Given the description of an element on the screen output the (x, y) to click on. 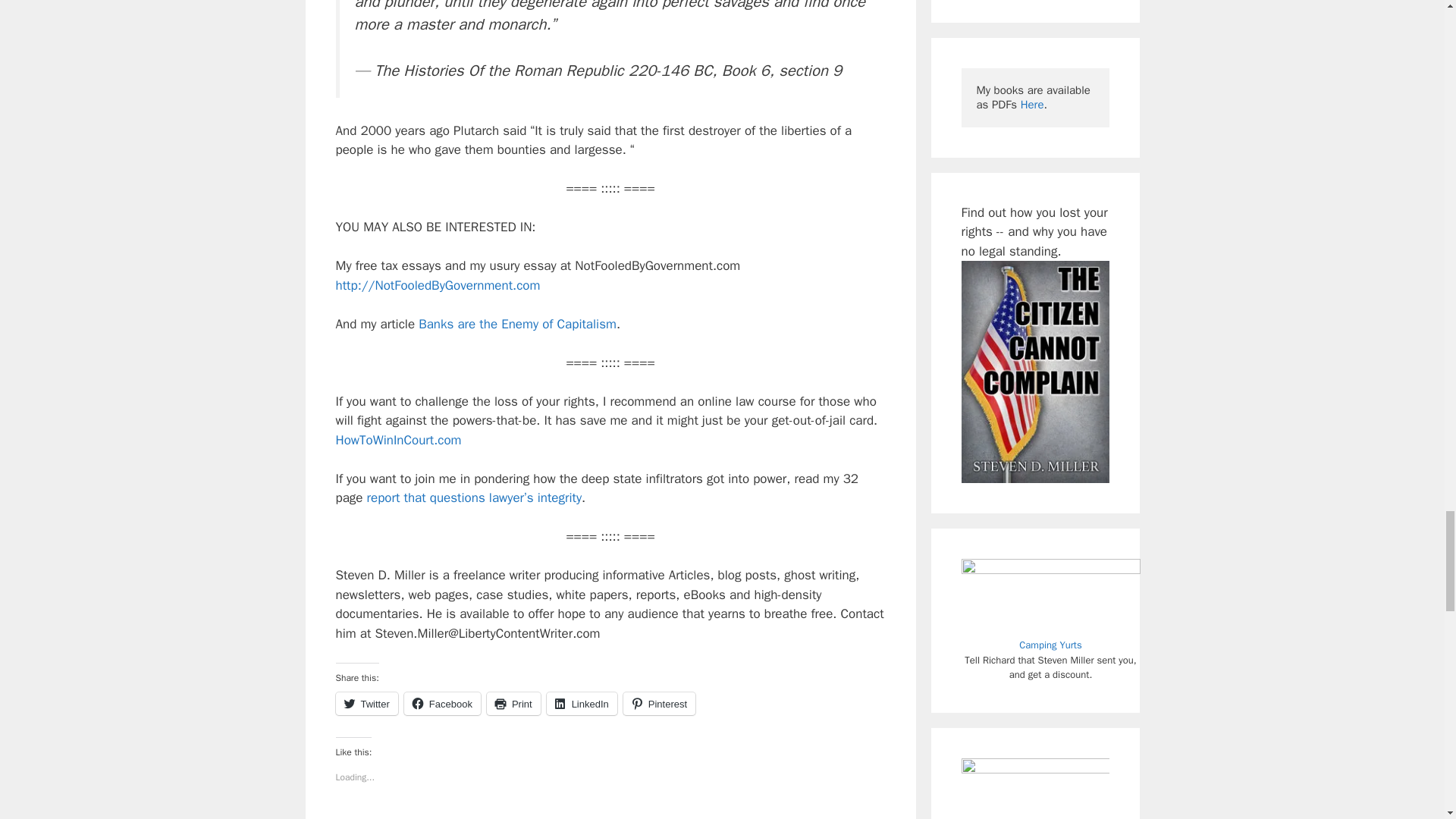
Click to share on Facebook (442, 703)
Click to print (513, 703)
Click to share on Twitter (365, 703)
Click to share on LinkedIn (582, 703)
Click to share on Pinterest (659, 703)
